Given the description of an element on the screen output the (x, y) to click on. 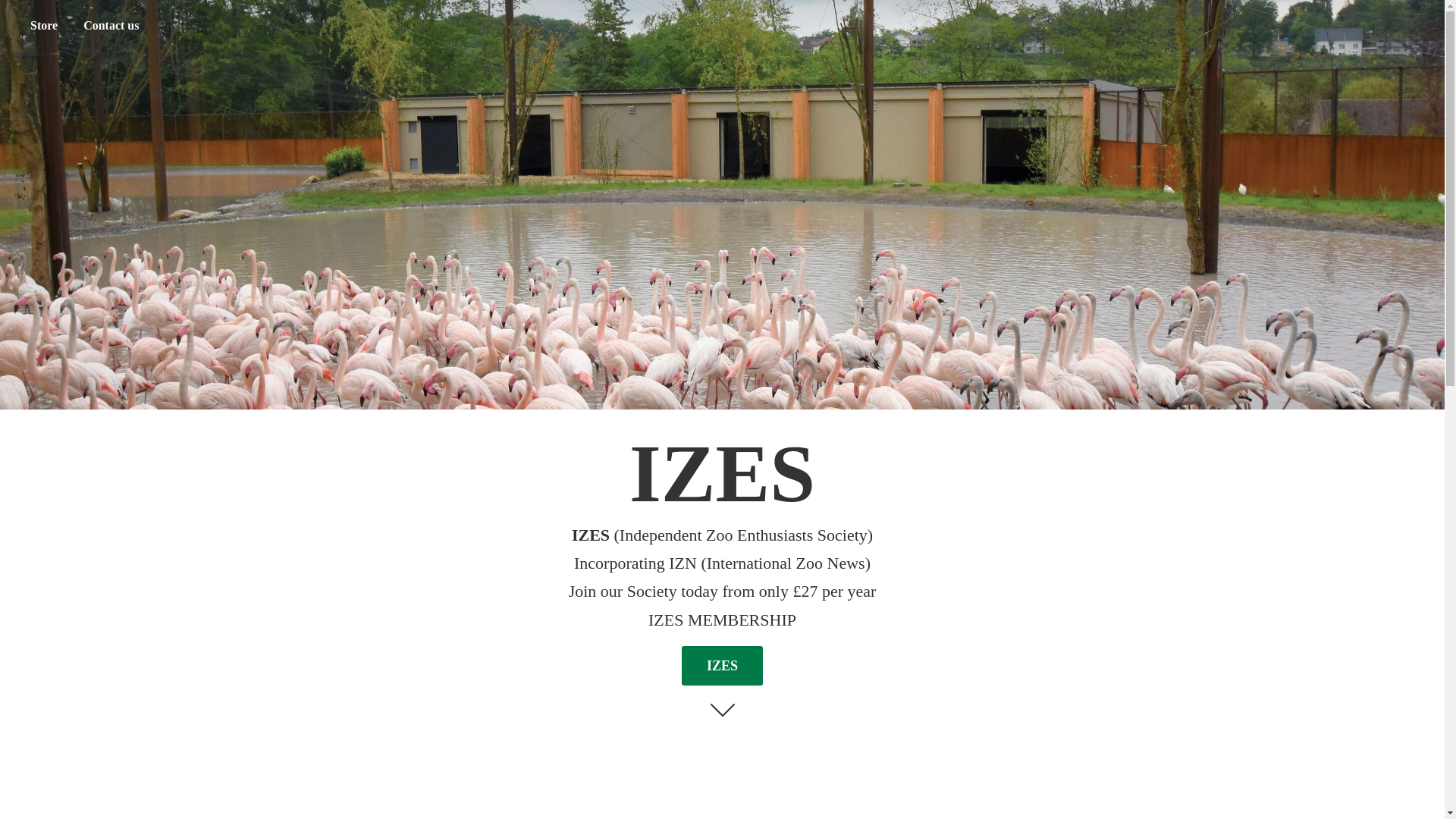
Store (43, 25)
Contact us (110, 25)
IZES (721, 665)
